Given the description of an element on the screen output the (x, y) to click on. 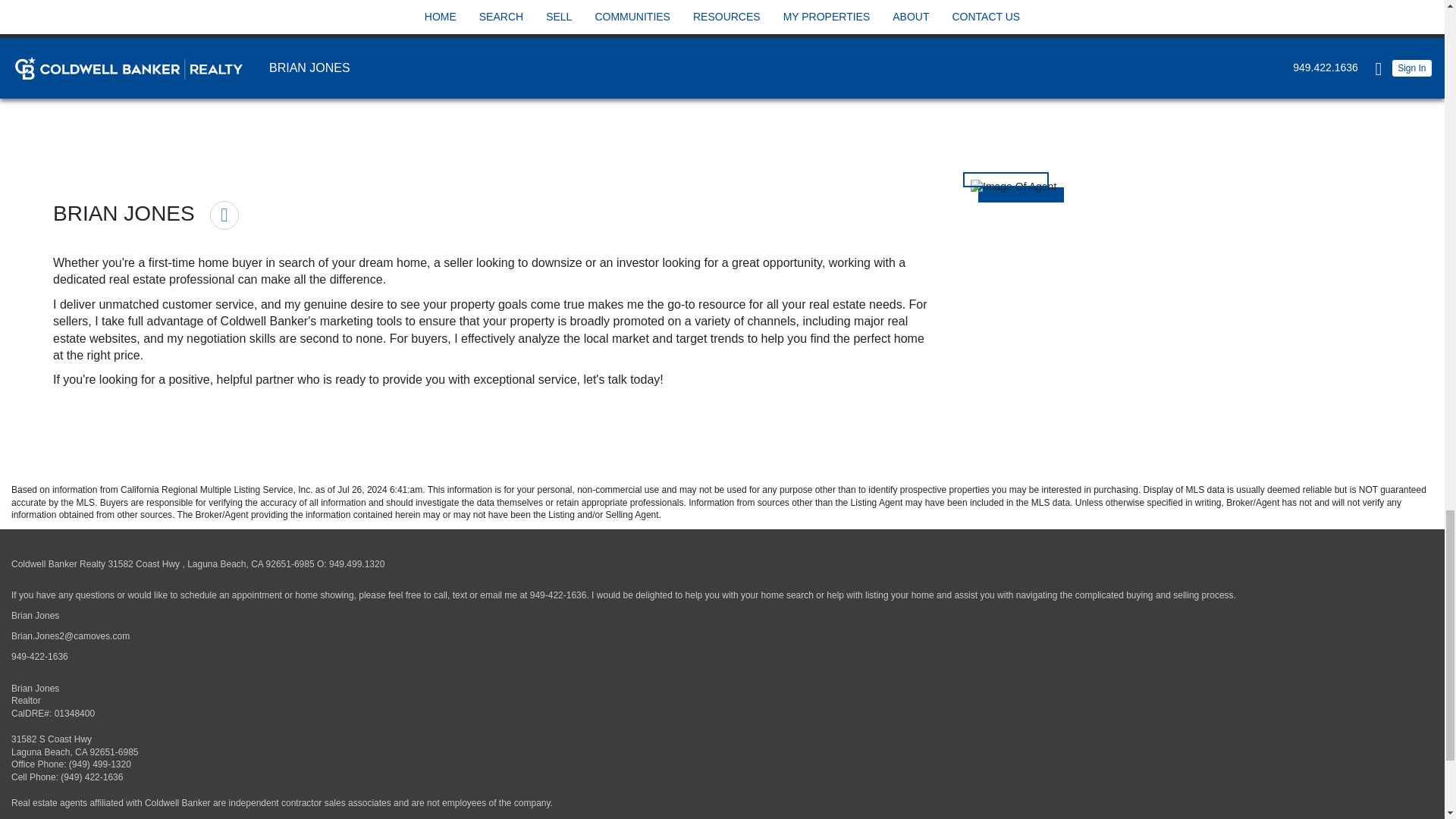
949.499.1320 (356, 563)
